Given the description of an element on the screen output the (x, y) to click on. 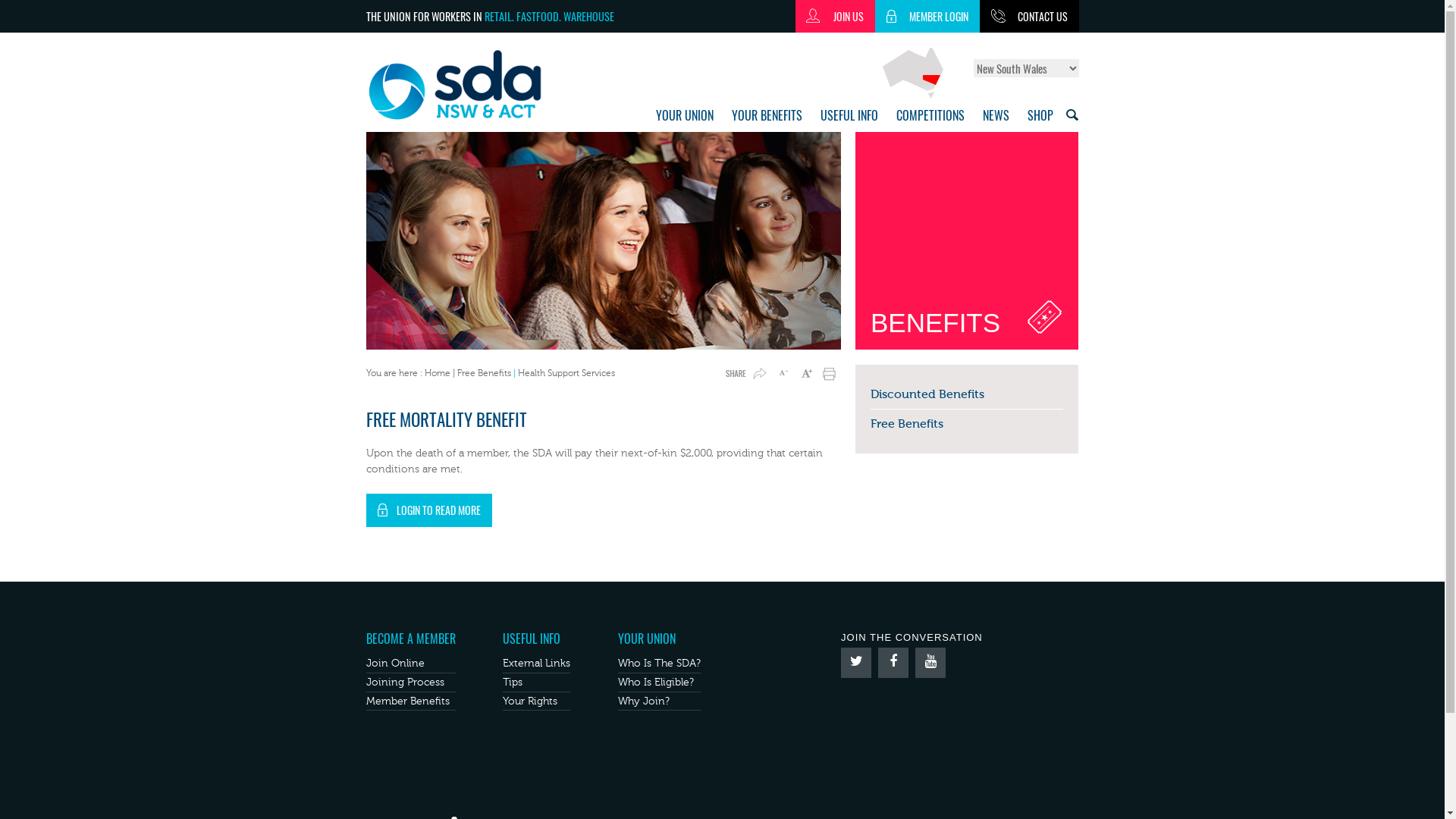
Print Element type: text (826, 373)
COMPETITIONS Element type: text (930, 114)
Tips Element type: text (512, 682)
YOUR UNION Element type: text (683, 114)
Free Benefits Element type: text (483, 372)
Home Element type: hover (473, 84)
A Element type: text (804, 373)
Twitter Element type: hover (855, 662)
Home Element type: text (438, 372)
BECOME A MEMBER Element type: text (410, 638)
NEWS Element type: text (995, 114)
Facebook Element type: hover (893, 662)
External Links Element type: text (536, 663)
SHOP Element type: text (1039, 114)
Free Benefits Element type: text (906, 423)
Health Support Services Element type: text (565, 372)
Jump to navigation Element type: text (722, 1)
Your Rights Element type: text (529, 701)
Who Is The SDA? Element type: text (659, 663)
Why Join? Element type: text (643, 701)
Join Online Element type: text (394, 663)
Share Element type: text (744, 373)
Discounted Benefits Element type: text (927, 393)
JOIN US Element type: text (834, 16)
Who Is Eligible? Element type: text (655, 682)
YOUR BENEFITS Element type: text (765, 114)
Google Element type: hover (930, 662)
Joining Process Element type: text (404, 682)
USEFUL INFO Element type: text (531, 638)
Member Benefits Element type: text (406, 701)
LOGIN TO READ MORE Element type: text (428, 509)
CONTACT US Element type: text (1029, 16)
USEFUL INFO Element type: text (849, 114)
A Element type: text (782, 373)
YOUR UNION Element type: text (646, 638)
MEMBER LOGIN Element type: text (927, 16)
